Given the description of an element on the screen output the (x, y) to click on. 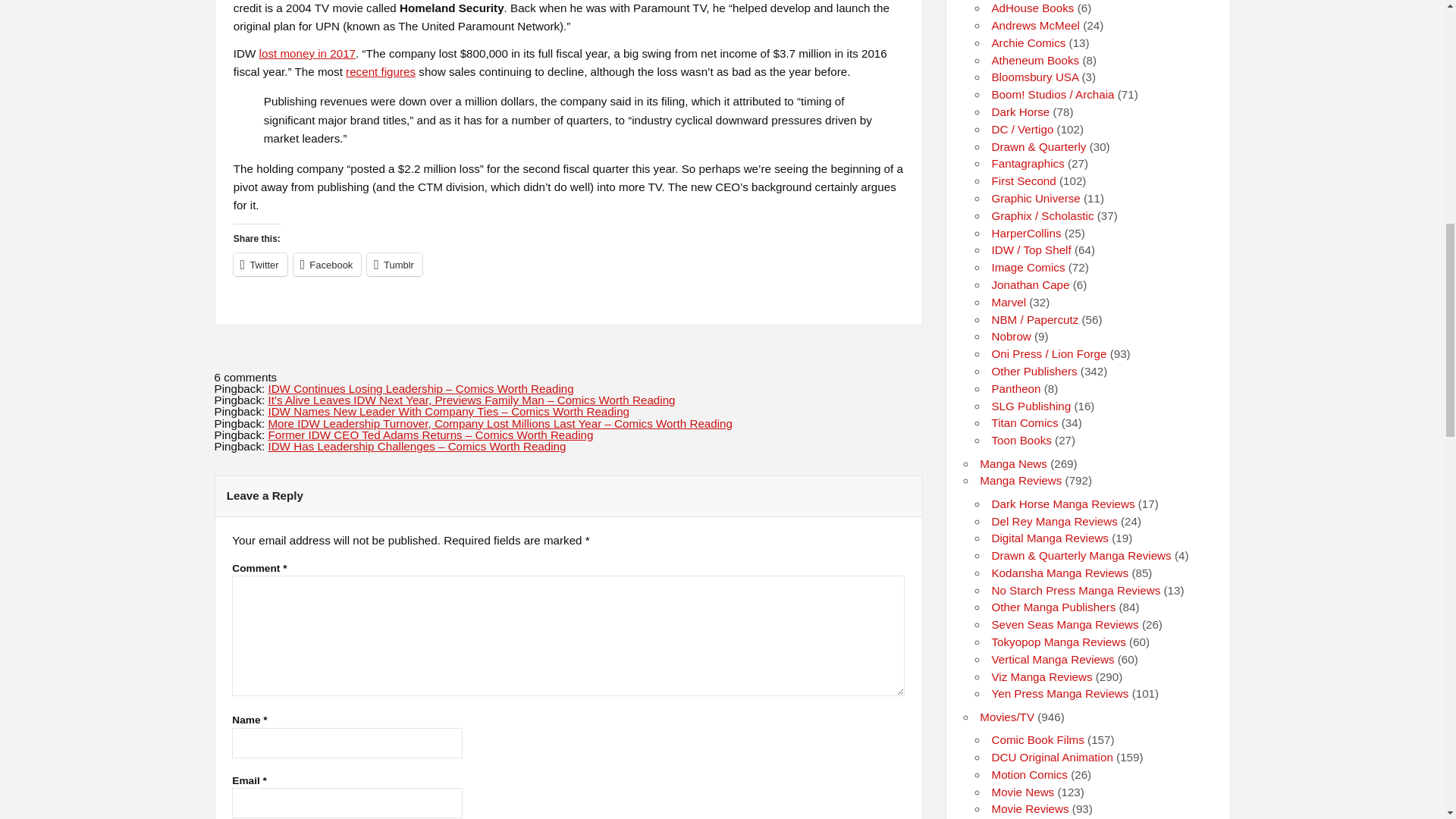
Click to share on Twitter (259, 264)
Facebook (327, 264)
Click to share on Facebook (327, 264)
Tumblr (394, 264)
lost money in 2017 (307, 52)
recent figures (380, 71)
Click to share on Tumblr (394, 264)
Twitter (259, 264)
